Given the description of an element on the screen output the (x, y) to click on. 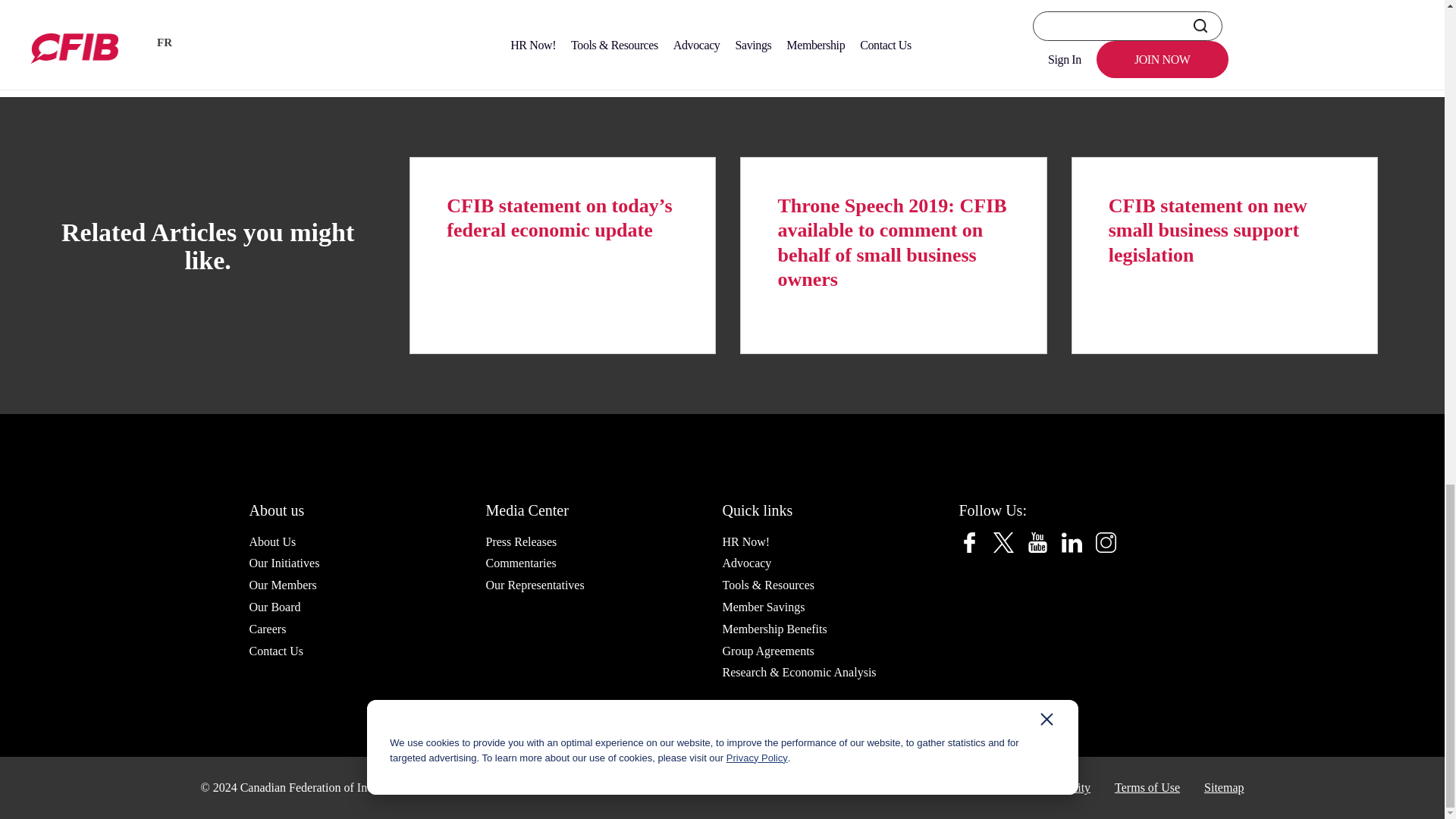
News Release (223, 24)
